Given the description of an element on the screen output the (x, y) to click on. 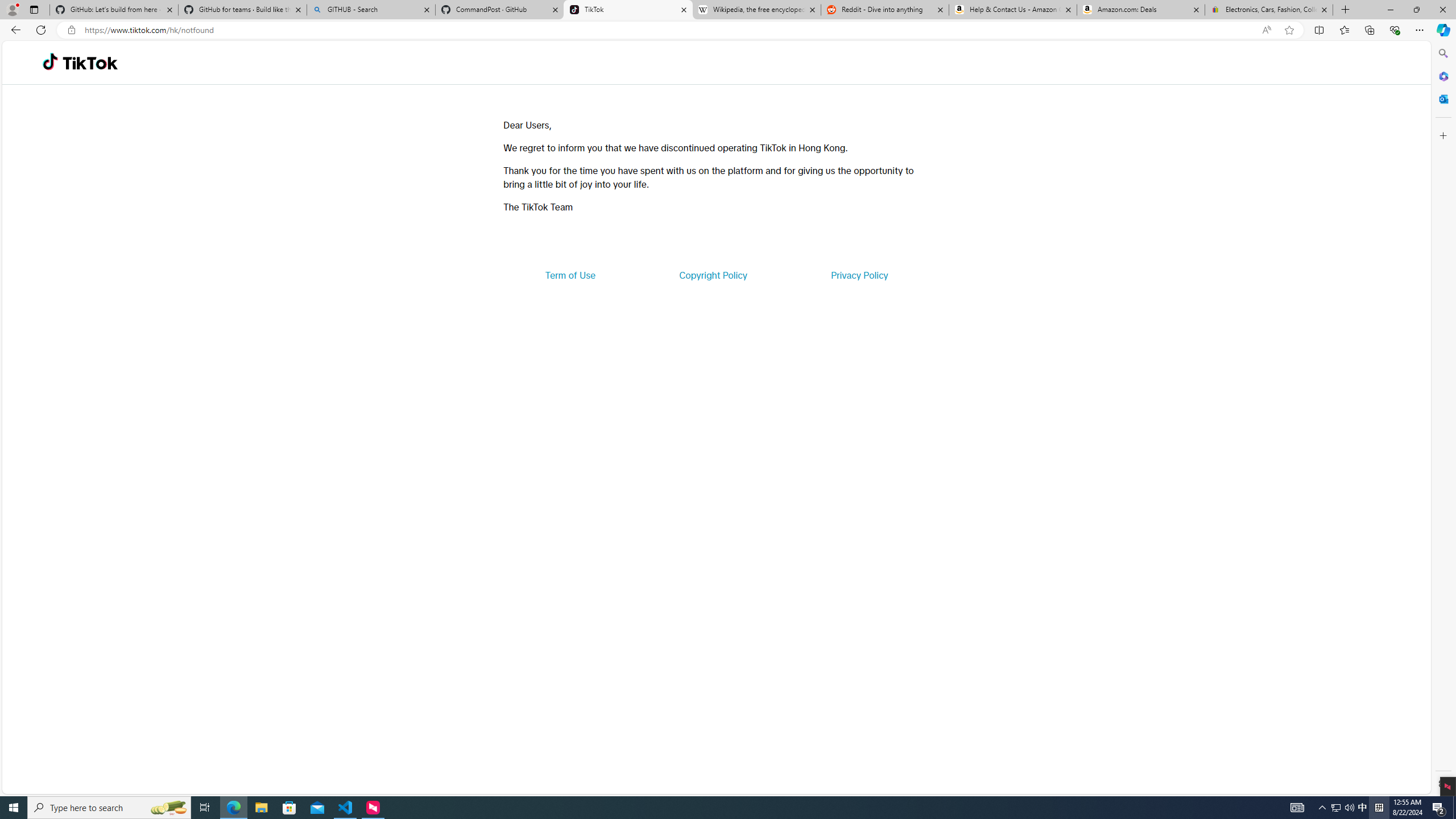
GITHUB - Search (370, 9)
Help & Contact Us - Amazon Customer Service (1012, 9)
Amazon.com: Deals (1140, 9)
